Given the description of an element on the screen output the (x, y) to click on. 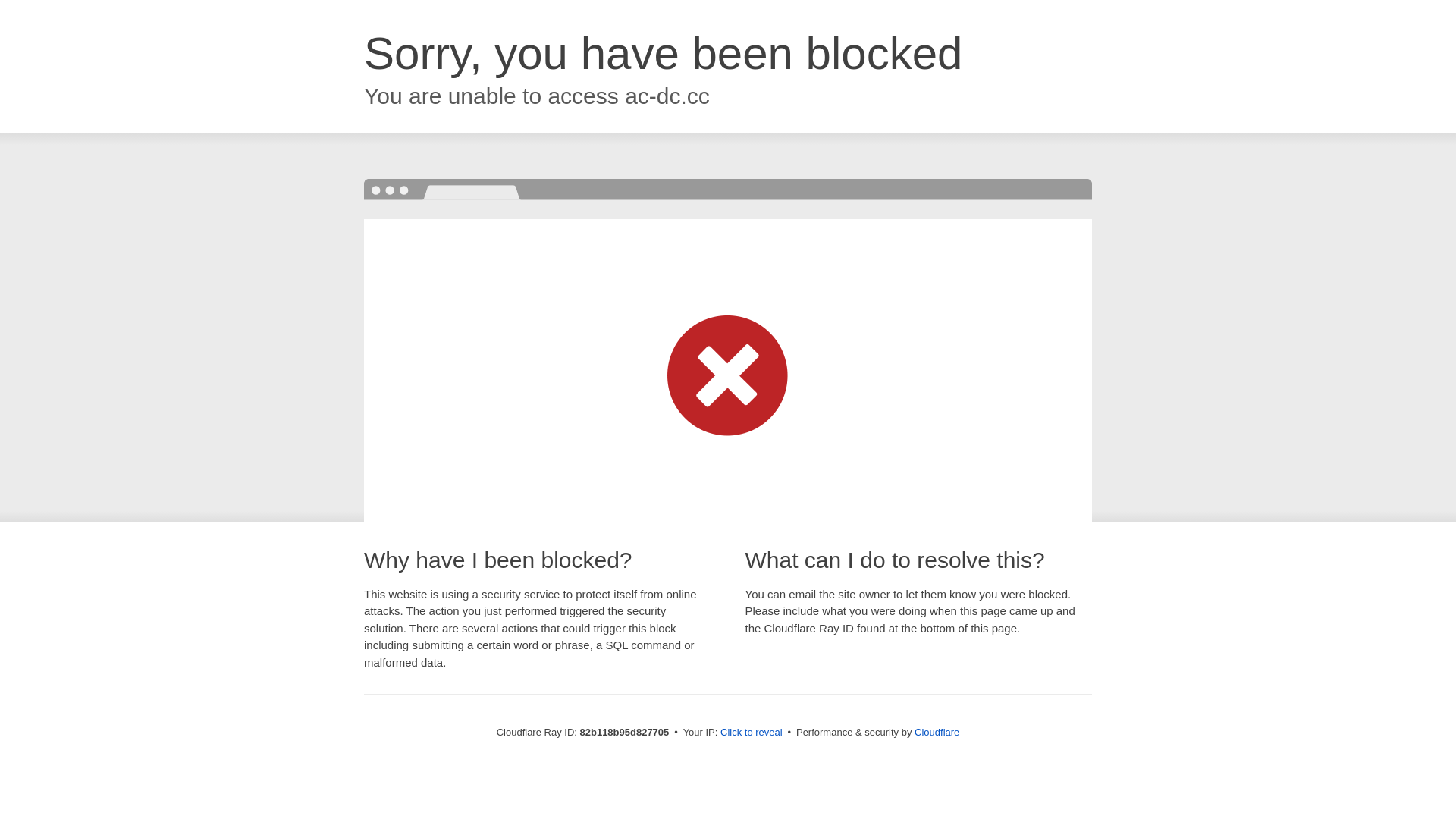
Cloudflare Element type: text (936, 731)
Click to reveal Element type: text (751, 732)
